Given the description of an element on the screen output the (x, y) to click on. 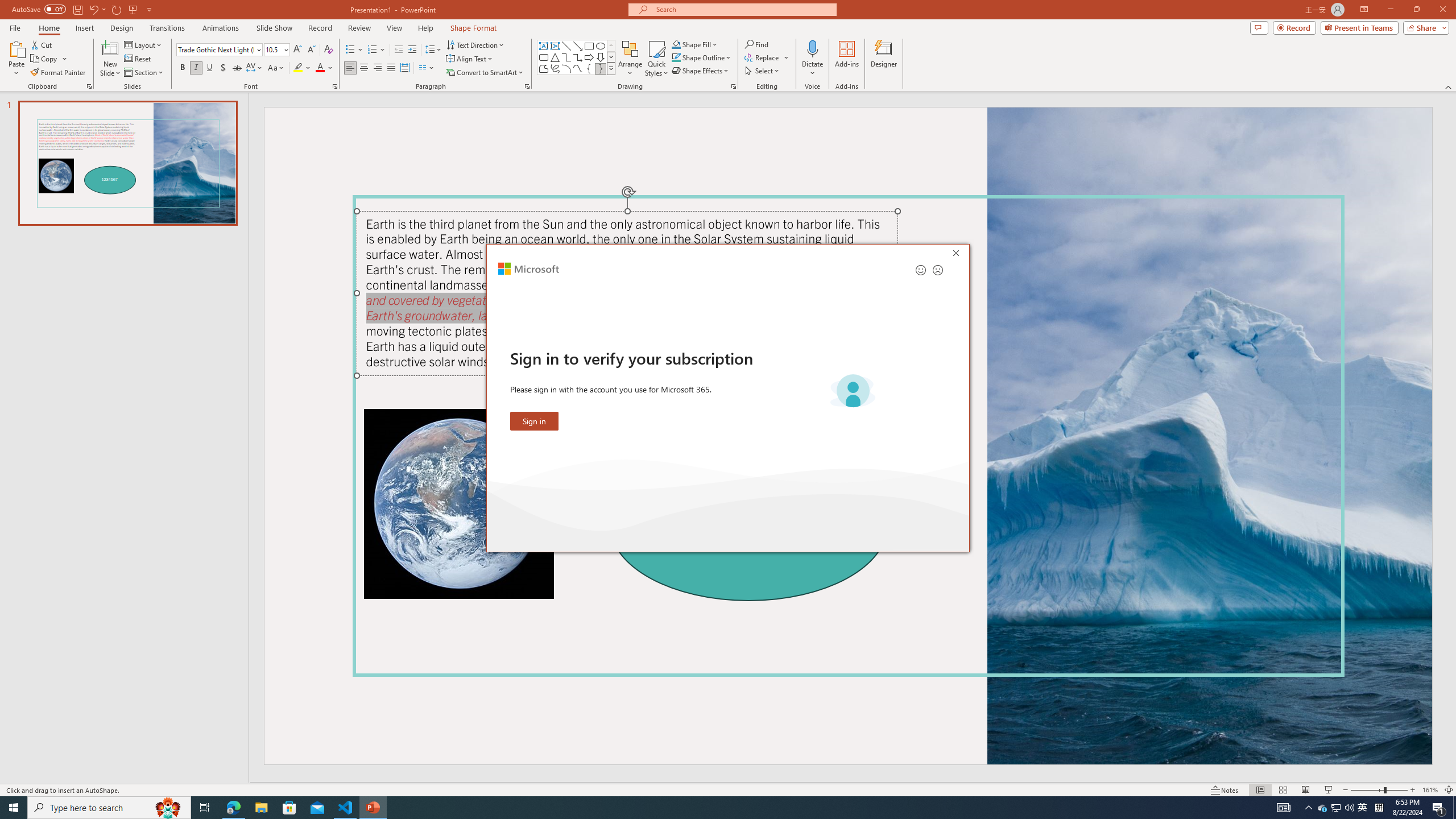
Distributed (404, 67)
Connector: Elbow Arrow (577, 57)
